Given the description of an element on the screen output the (x, y) to click on. 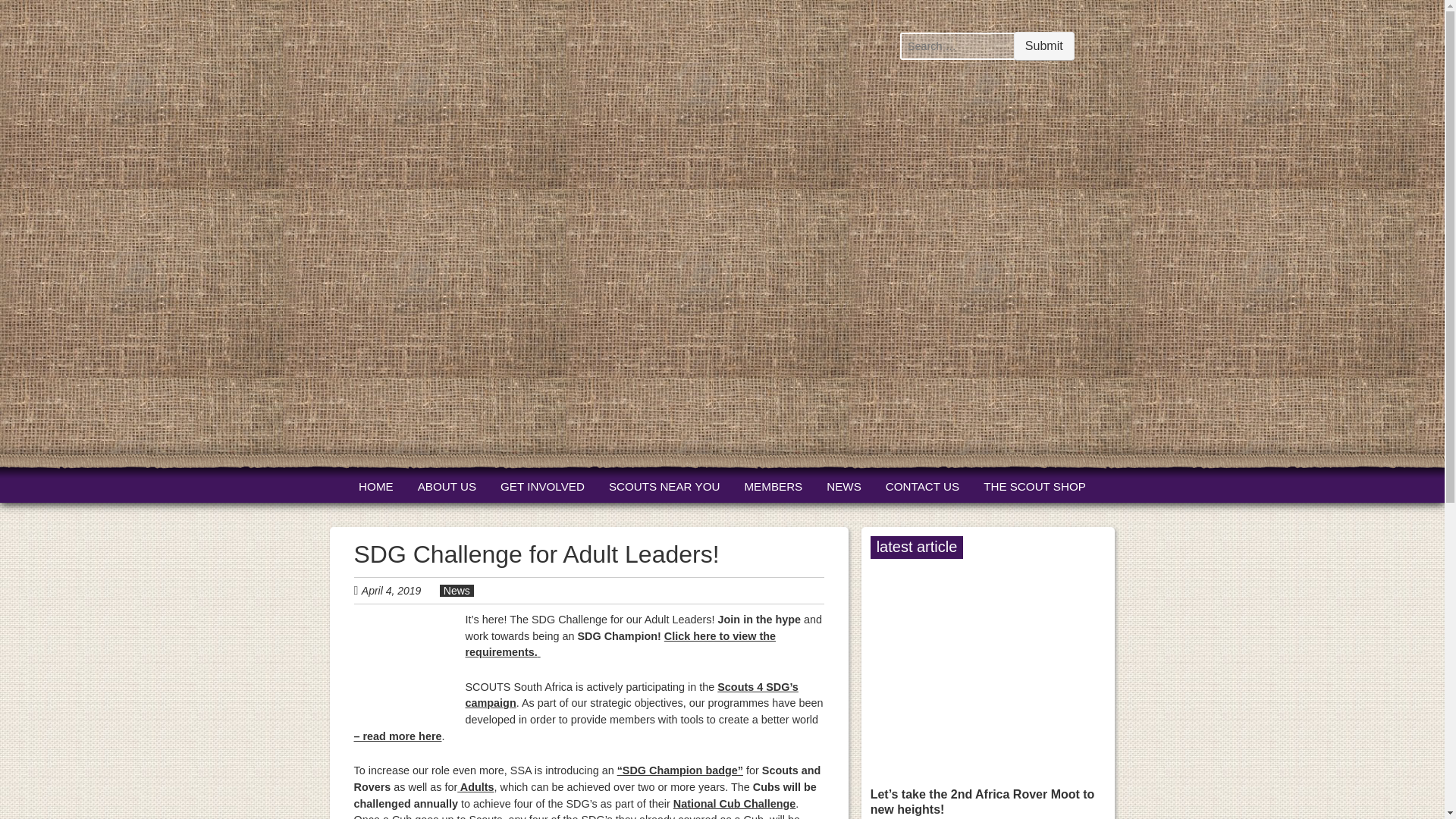
MEMBERS (773, 487)
Submit (1043, 45)
SCOUTS South Africa (383, 411)
HOME (375, 487)
GET INVOLVED (542, 487)
ABOUT US (446, 487)
Submit (1043, 45)
Skip to content (386, 487)
Skip to content (386, 487)
SCOUTS NEAR YOU (664, 487)
